Given the description of an element on the screen output the (x, y) to click on. 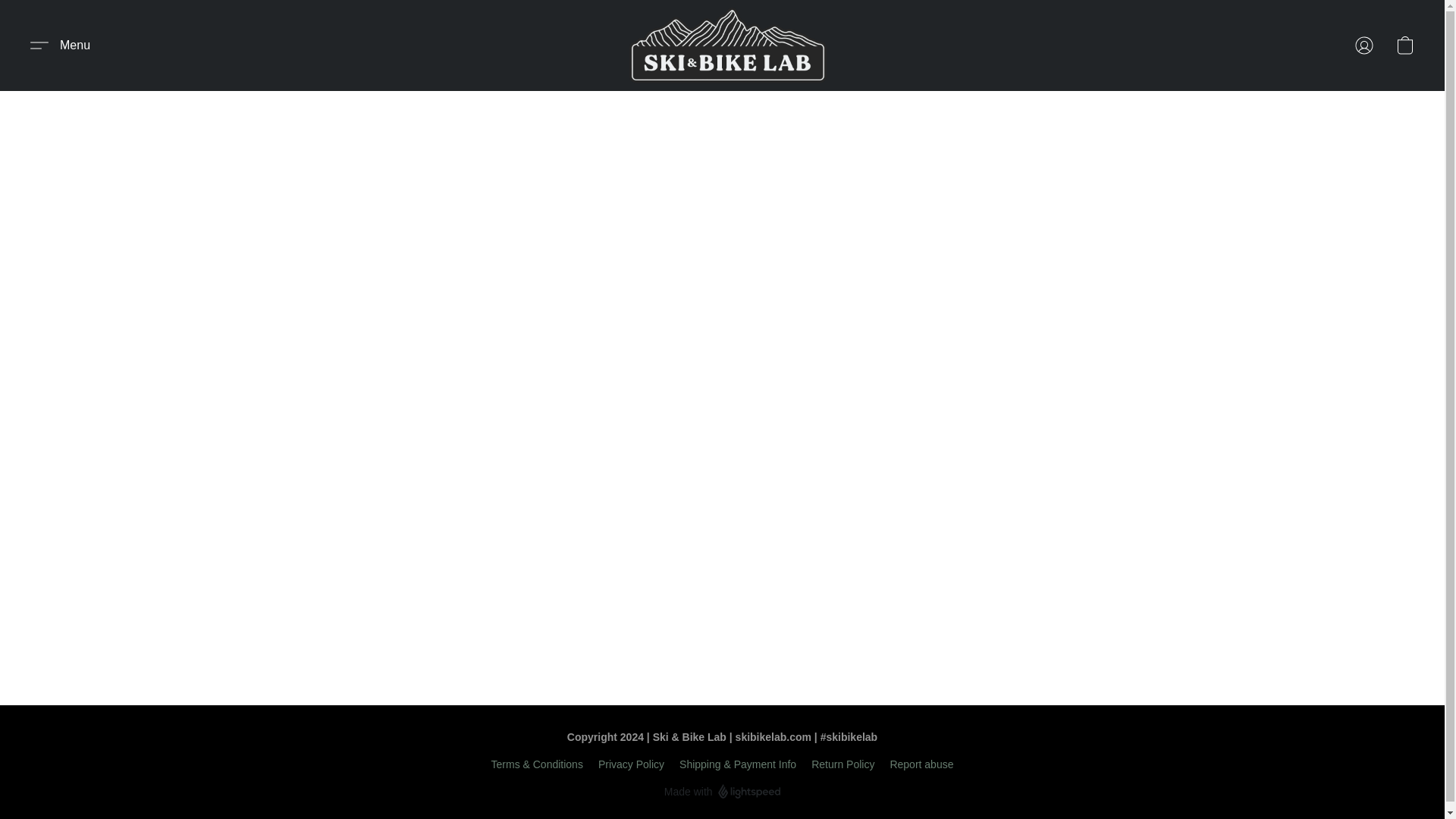
Privacy Policy (630, 764)
Go to your shopping cart (1404, 45)
Menu (59, 45)
Report abuse (921, 764)
Made with (721, 791)
Return Policy (842, 764)
